Given the description of an element on the screen output the (x, y) to click on. 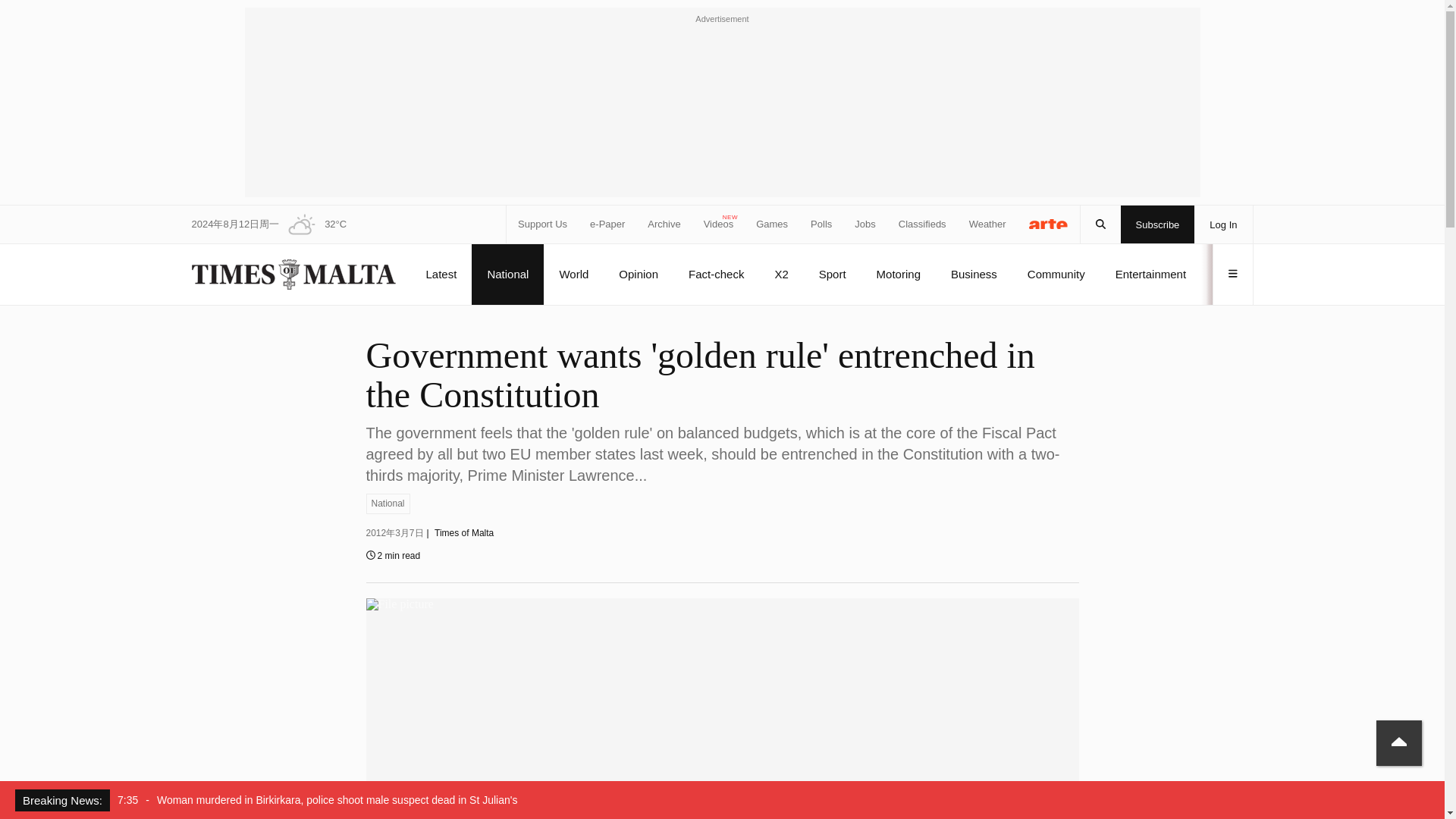
ARTE (1048, 223)
Fact-check (716, 274)
Times of Malta (463, 532)
Log In (1222, 224)
Subscribe (1158, 224)
National (387, 503)
Classifieds (922, 224)
Support Us (542, 224)
Entertainment (1150, 274)
